Given the description of an element on the screen output the (x, y) to click on. 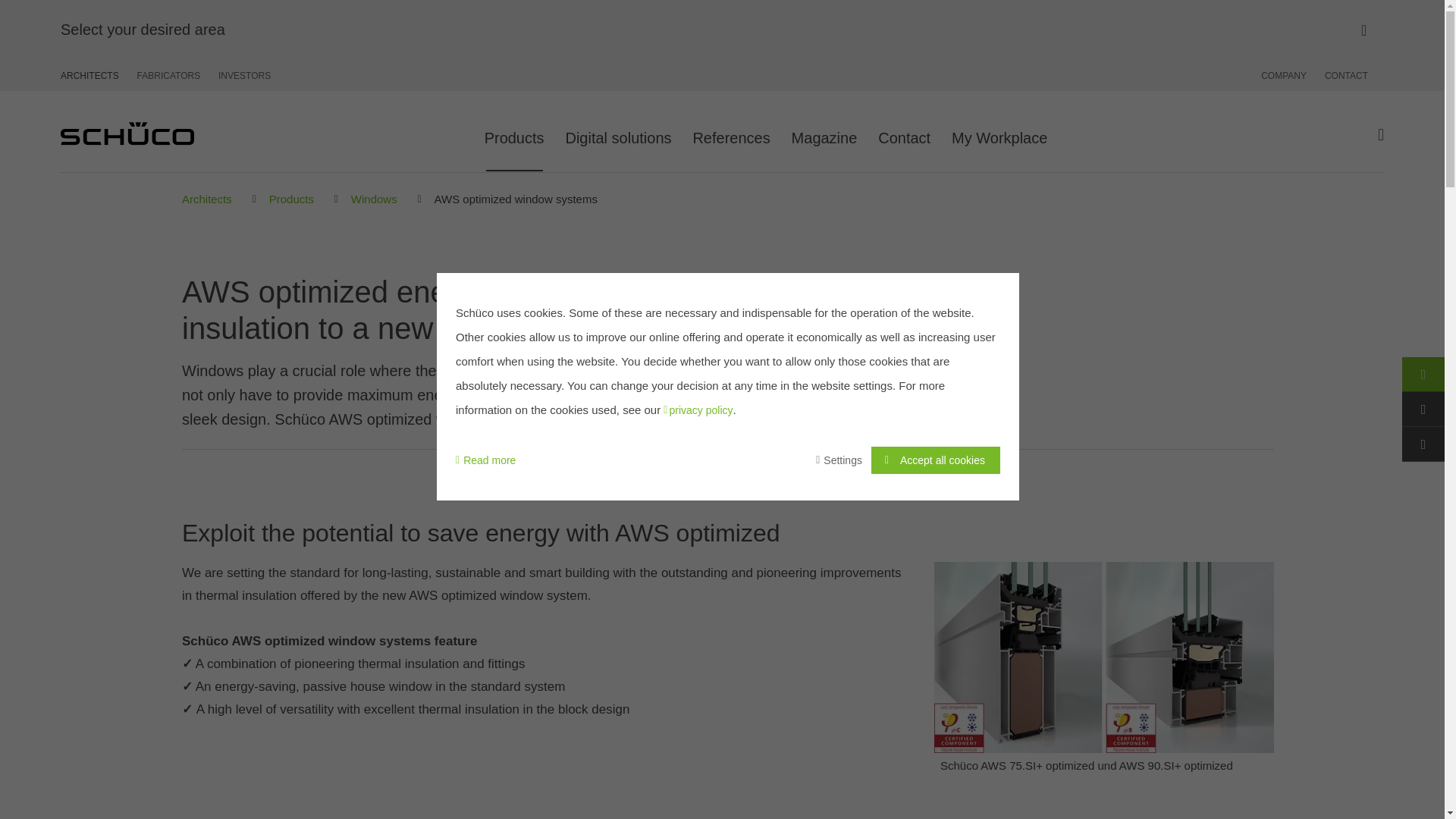
Contact (904, 132)
FABRICATORS (168, 75)
My Workplace (999, 132)
Magazine (824, 132)
Digital solutions (617, 132)
References (730, 132)
INVESTORS (240, 75)
Products (514, 132)
CONTACT (1342, 75)
ARCHITECTS (93, 75)
COMPANY (1287, 75)
